Given the description of an element on the screen output the (x, y) to click on. 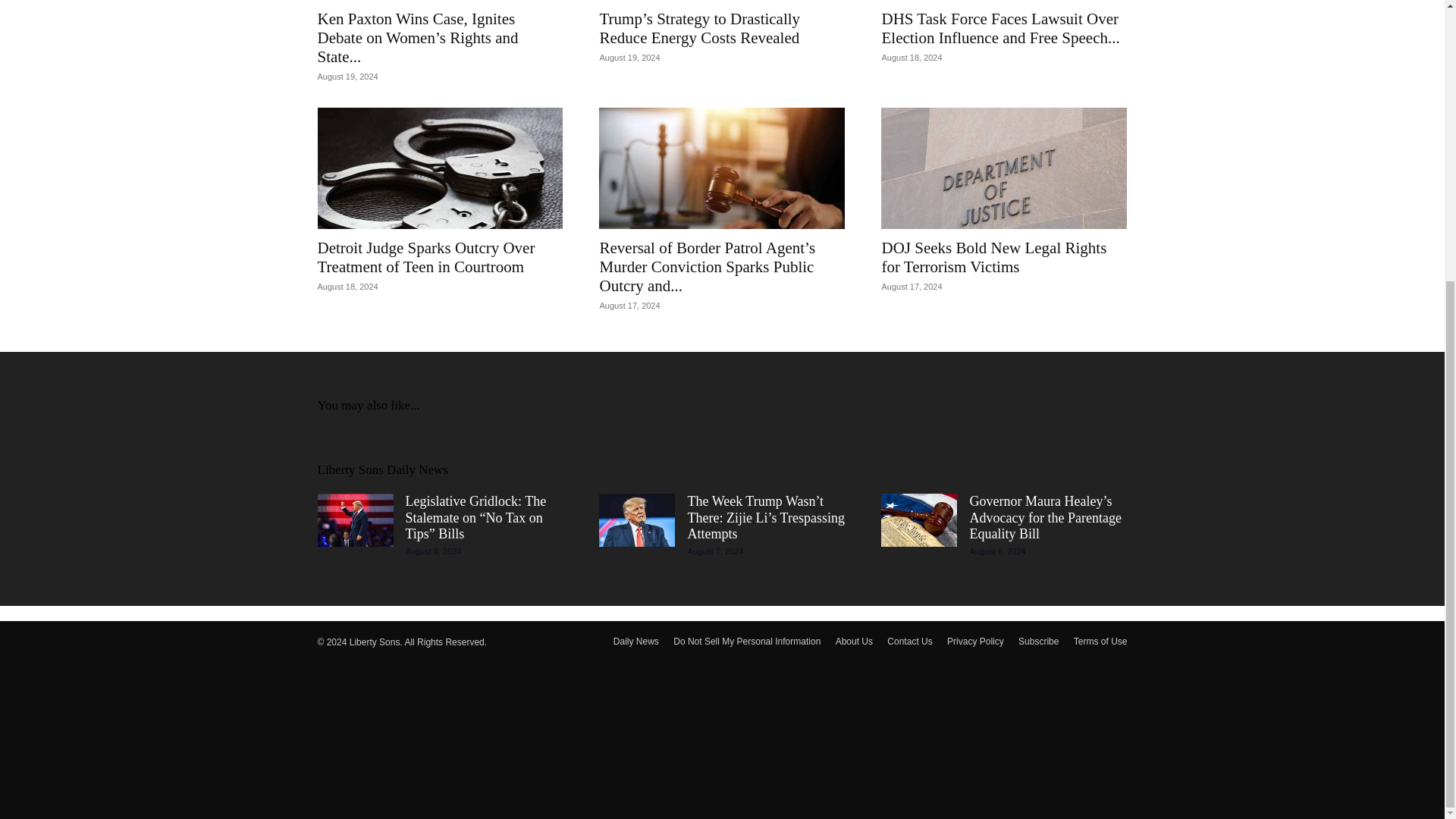
Contact Us (908, 641)
Do Not Sell My Personal Information (746, 641)
Liberty Sons Daily News (381, 469)
Daily News (635, 641)
Privacy Policy (975, 641)
DOJ Seeks Bold New Legal Rights for Terrorism Victims (1003, 168)
